Given the description of an element on the screen output the (x, y) to click on. 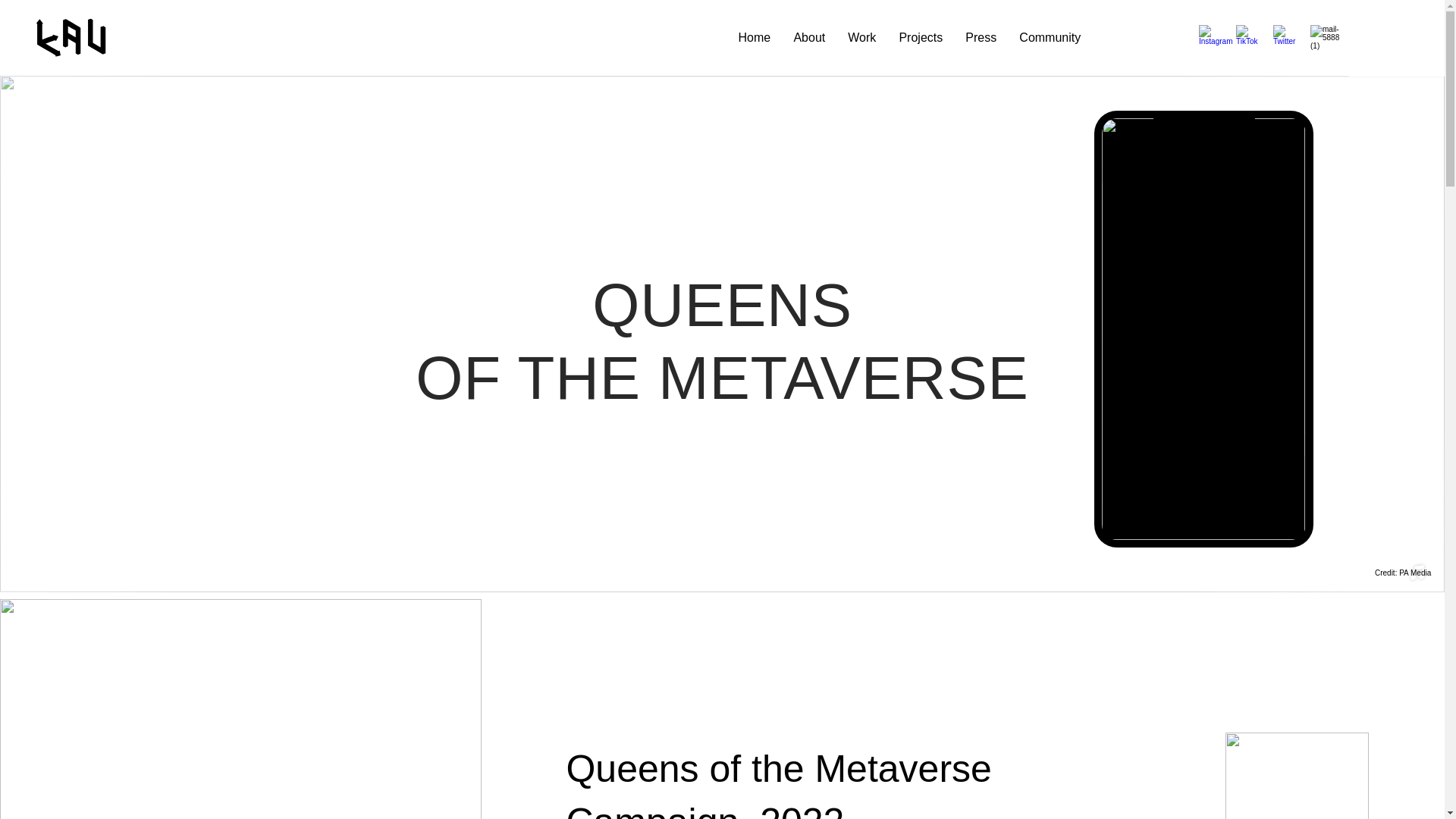
Work (860, 37)
Community (1049, 37)
Home (753, 37)
About (808, 37)
Press (980, 37)
